Given the description of an element on the screen output the (x, y) to click on. 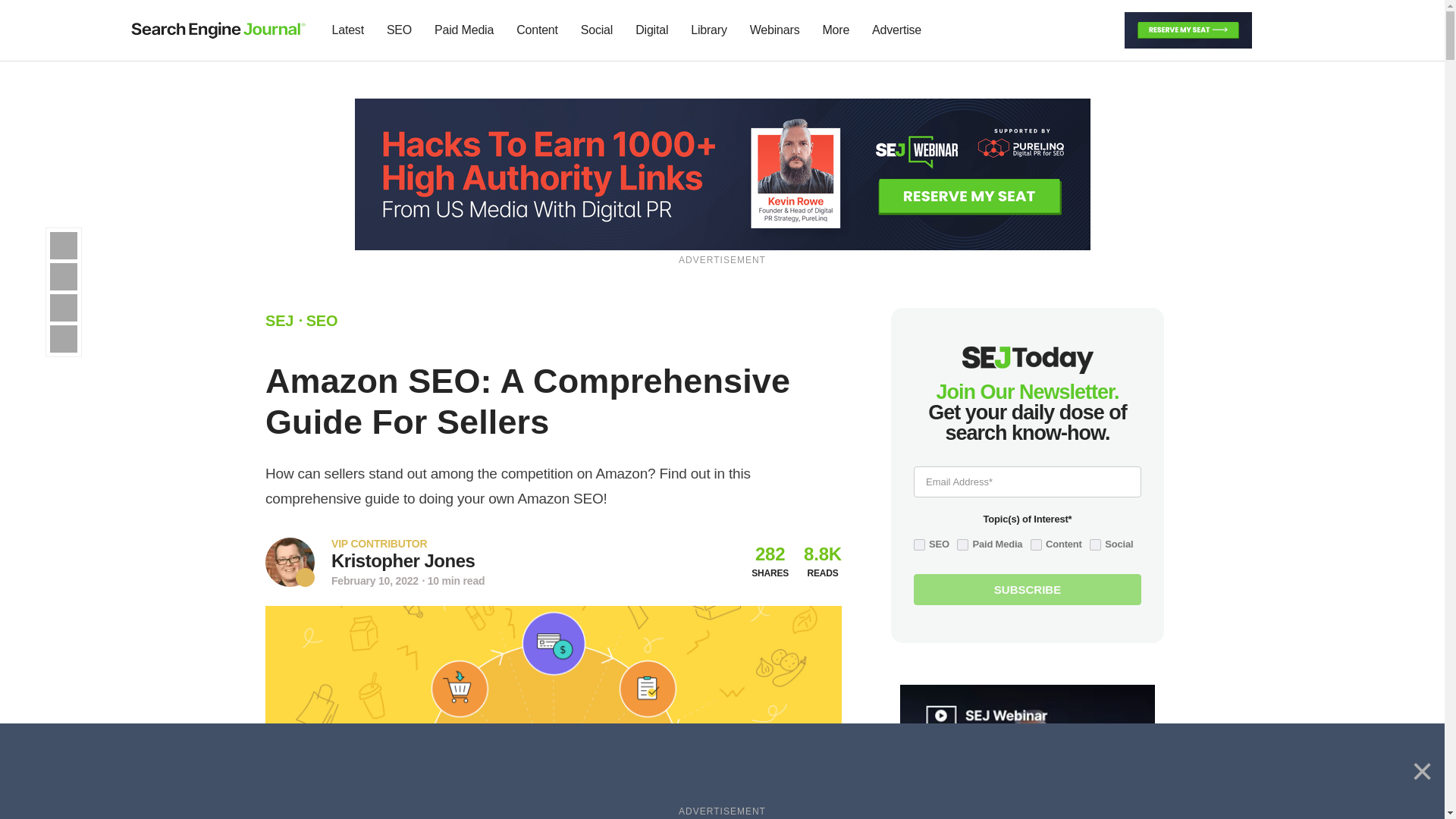
Subscribe to our Newsletter (1277, 30)
Paid Media (464, 30)
Go to Author Page (402, 560)
Register For Free (1187, 28)
Latest (347, 30)
Register For Free (722, 172)
Go to Author Page (289, 562)
